Given the description of an element on the screen output the (x, y) to click on. 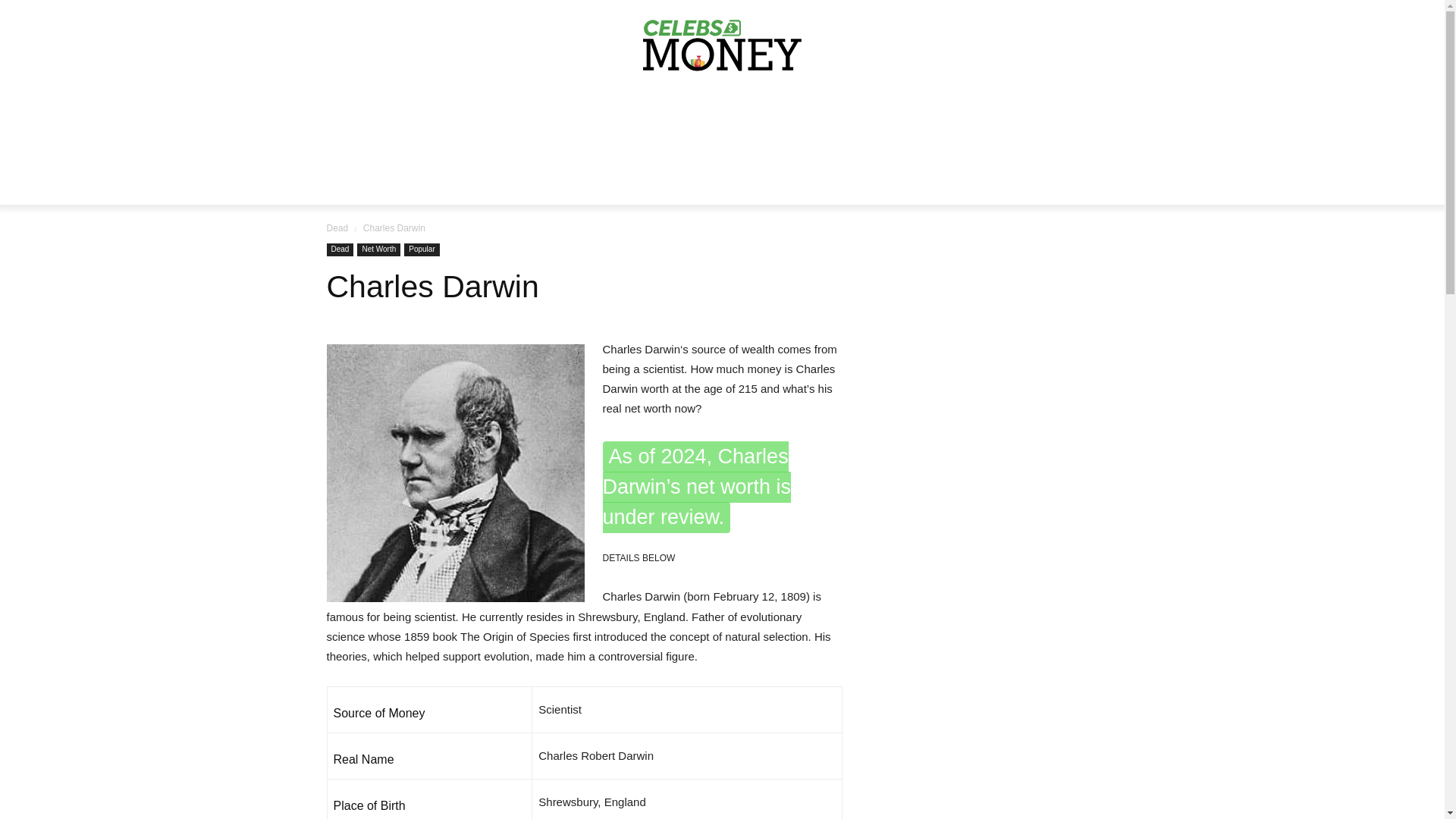
Dead (339, 249)
Celebrity Net Worth (722, 47)
Dead (336, 227)
Popular (421, 249)
View all posts in Dead (336, 227)
Net Worth (378, 249)
